Given the description of an element on the screen output the (x, y) to click on. 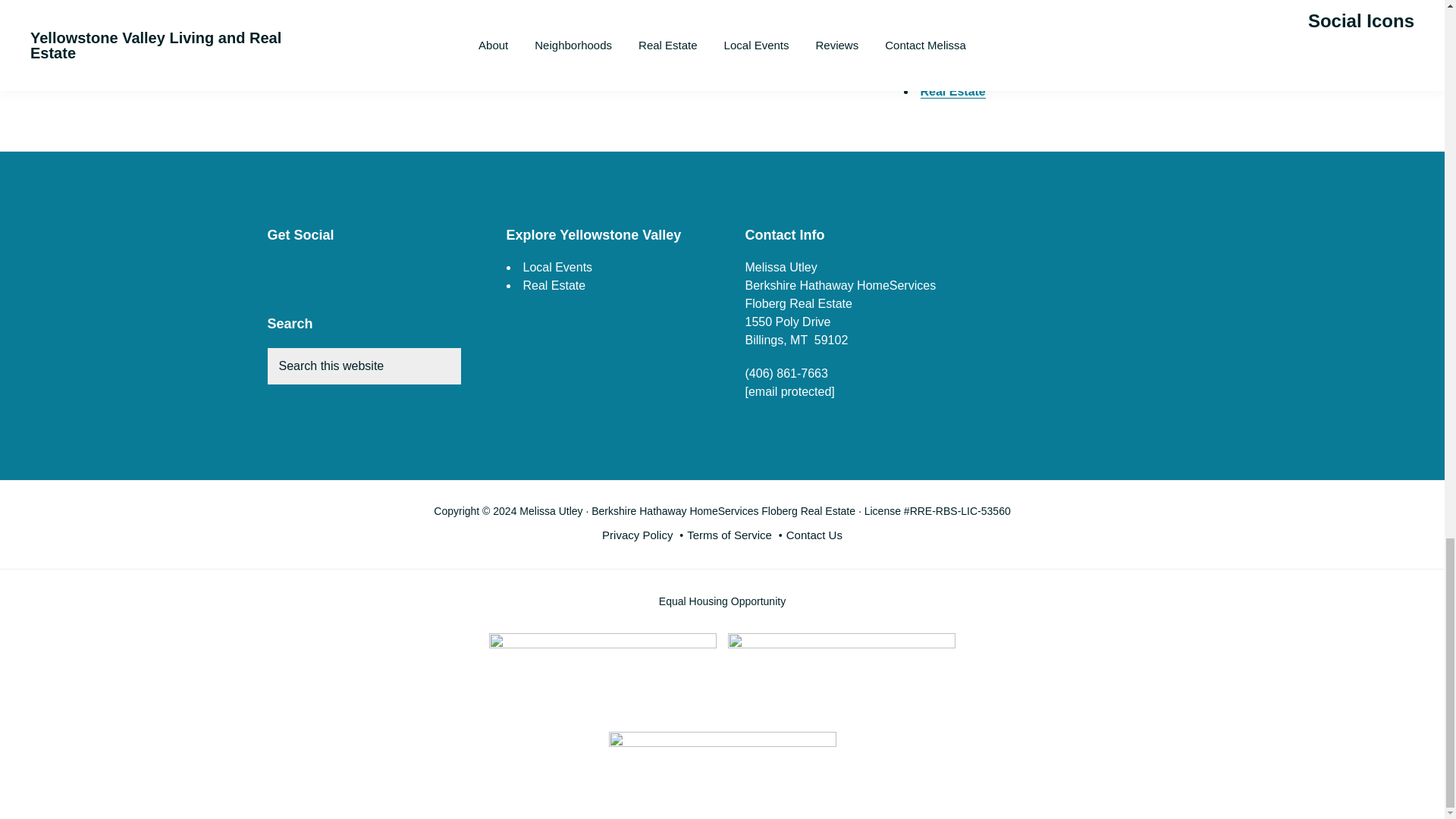
Real Estate (952, 91)
Local Events (957, 64)
Local Events (557, 267)
Real Estate (554, 285)
